Given the description of an element on the screen output the (x, y) to click on. 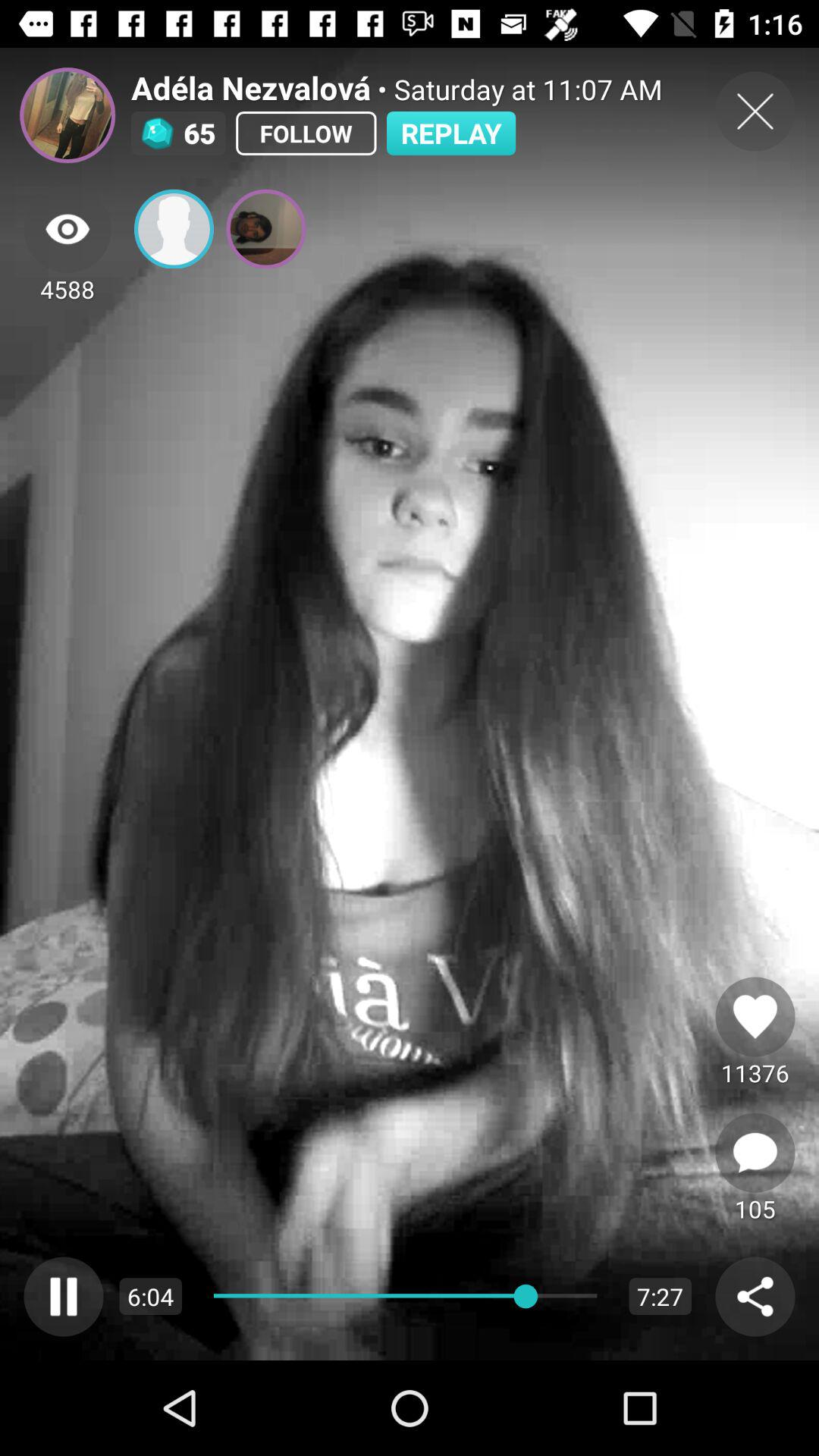
go to forever (755, 1016)
